Given the description of an element on the screen output the (x, y) to click on. 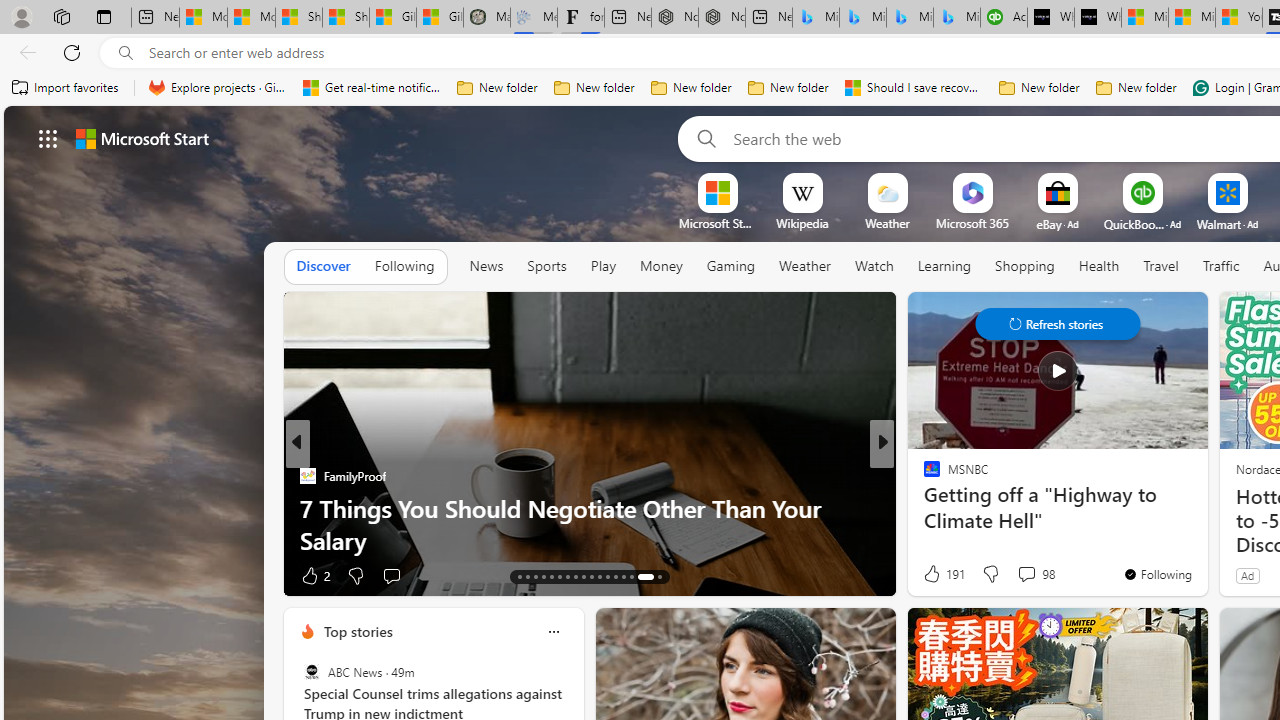
ABC News (311, 672)
AutomationID: tab-21 (582, 576)
News (485, 267)
2 Like (313, 574)
Traffic (1220, 265)
AutomationID: tab-24 (606, 576)
AutomationID: tab-19 (567, 576)
AutomationID: tab-13 (518, 576)
AutomationID: tab-25 (614, 576)
AutomationID: tab-20 (574, 576)
News (486, 265)
